Given the description of an element on the screen output the (x, y) to click on. 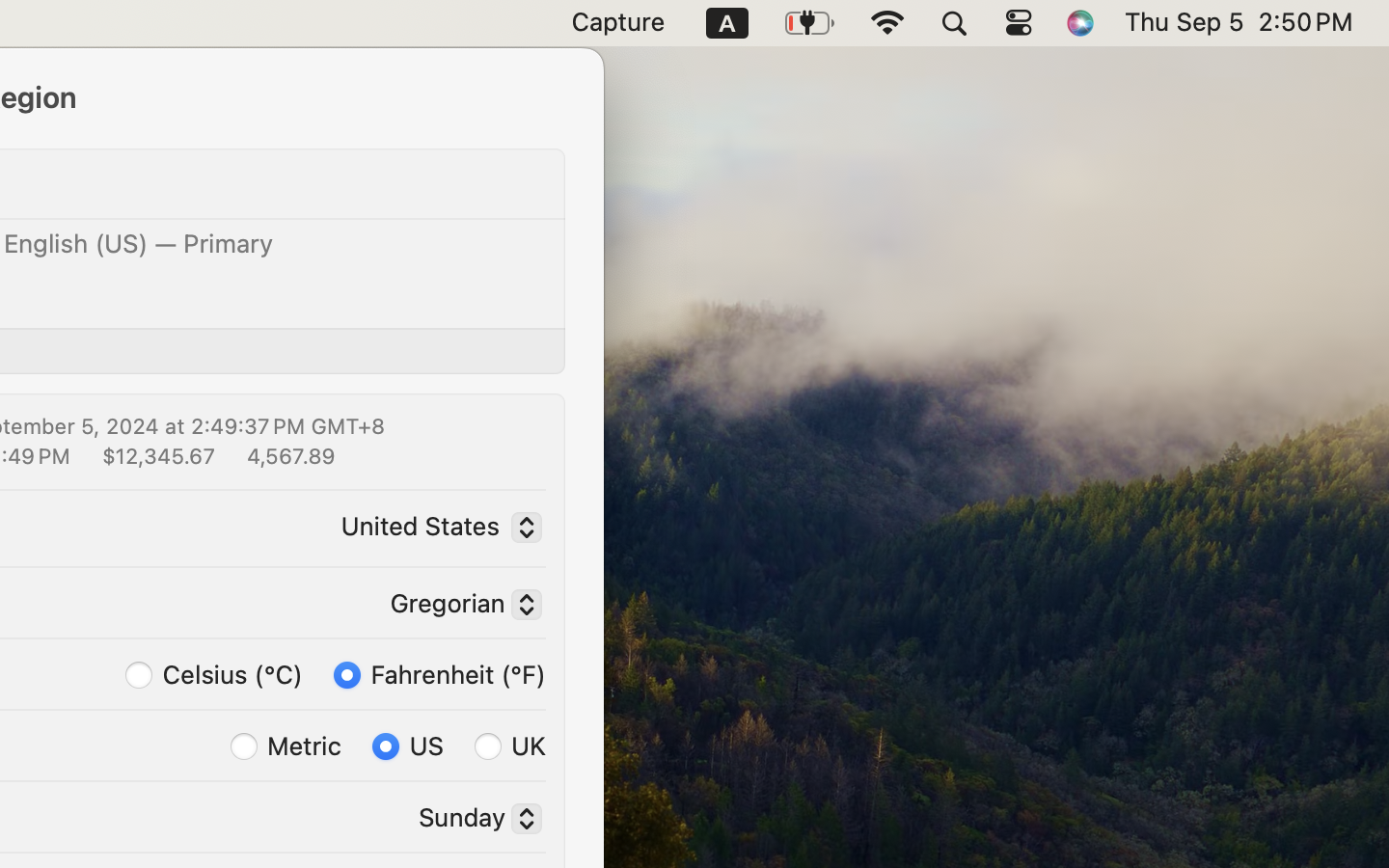
Sunday Element type: AXPopUpButton (472, 820)
United States Element type: AXPopUpButton (435, 529)
English (US) — Primary Element type: AXStaticText (138, 242)
Gregorian Element type: AXPopUpButton (457, 606)
